Given the description of an element on the screen output the (x, y) to click on. 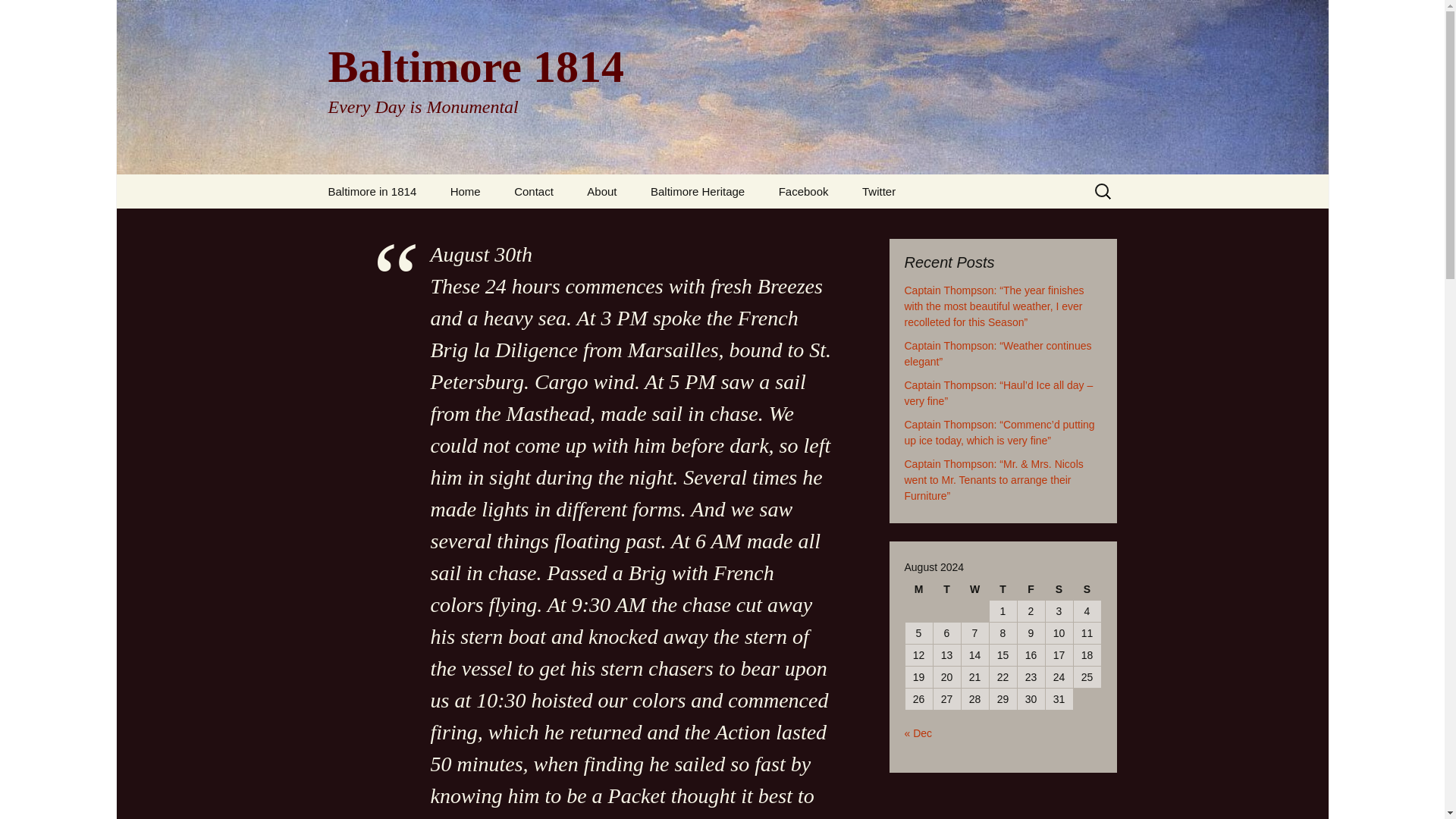
Search (34, 15)
Friday (1031, 588)
Sunday (1087, 588)
Contact (534, 191)
Baltimore Heritage (697, 191)
About (601, 191)
Saturday (1058, 588)
Home (465, 191)
